Given the description of an element on the screen output the (x, y) to click on. 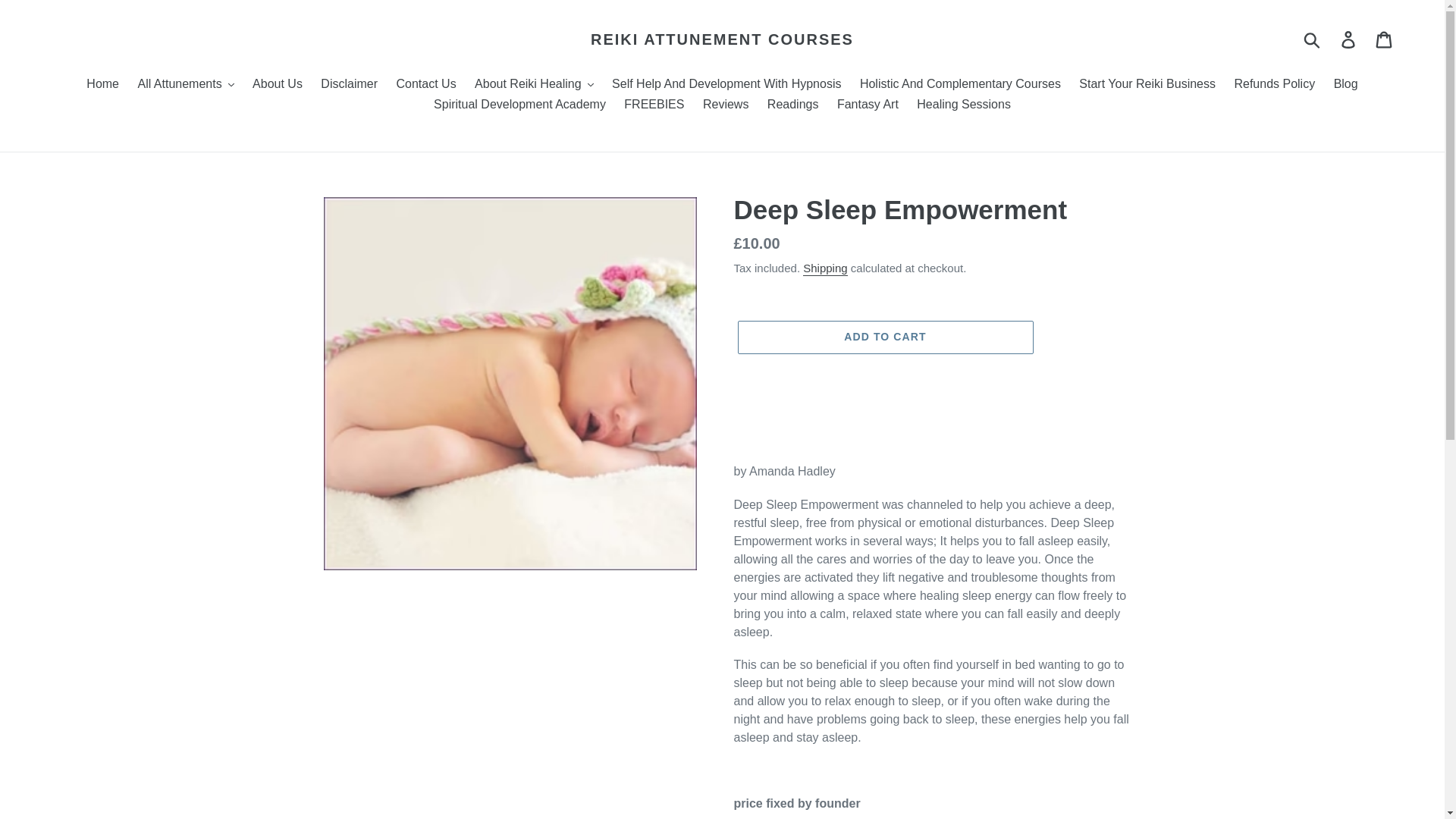
Log in (1349, 39)
Cart (1385, 39)
About Us (277, 85)
Submit (1313, 39)
REIKI ATTUNEMENT COURSES (722, 39)
Home (102, 85)
Contact Us (425, 85)
Disclaimer (349, 85)
